Given the description of an element on the screen output the (x, y) to click on. 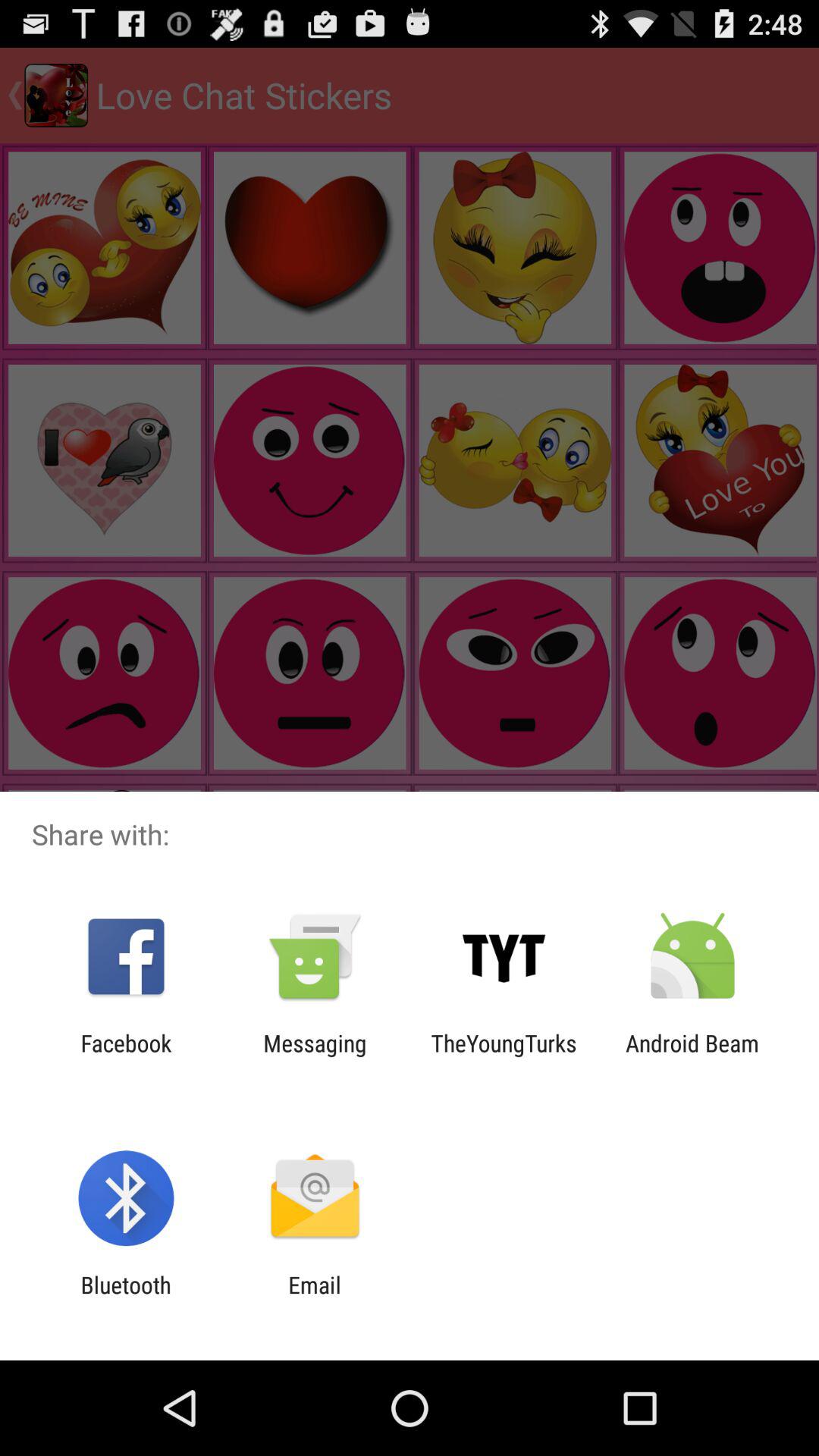
scroll to android beam icon (692, 1056)
